Given the description of an element on the screen output the (x, y) to click on. 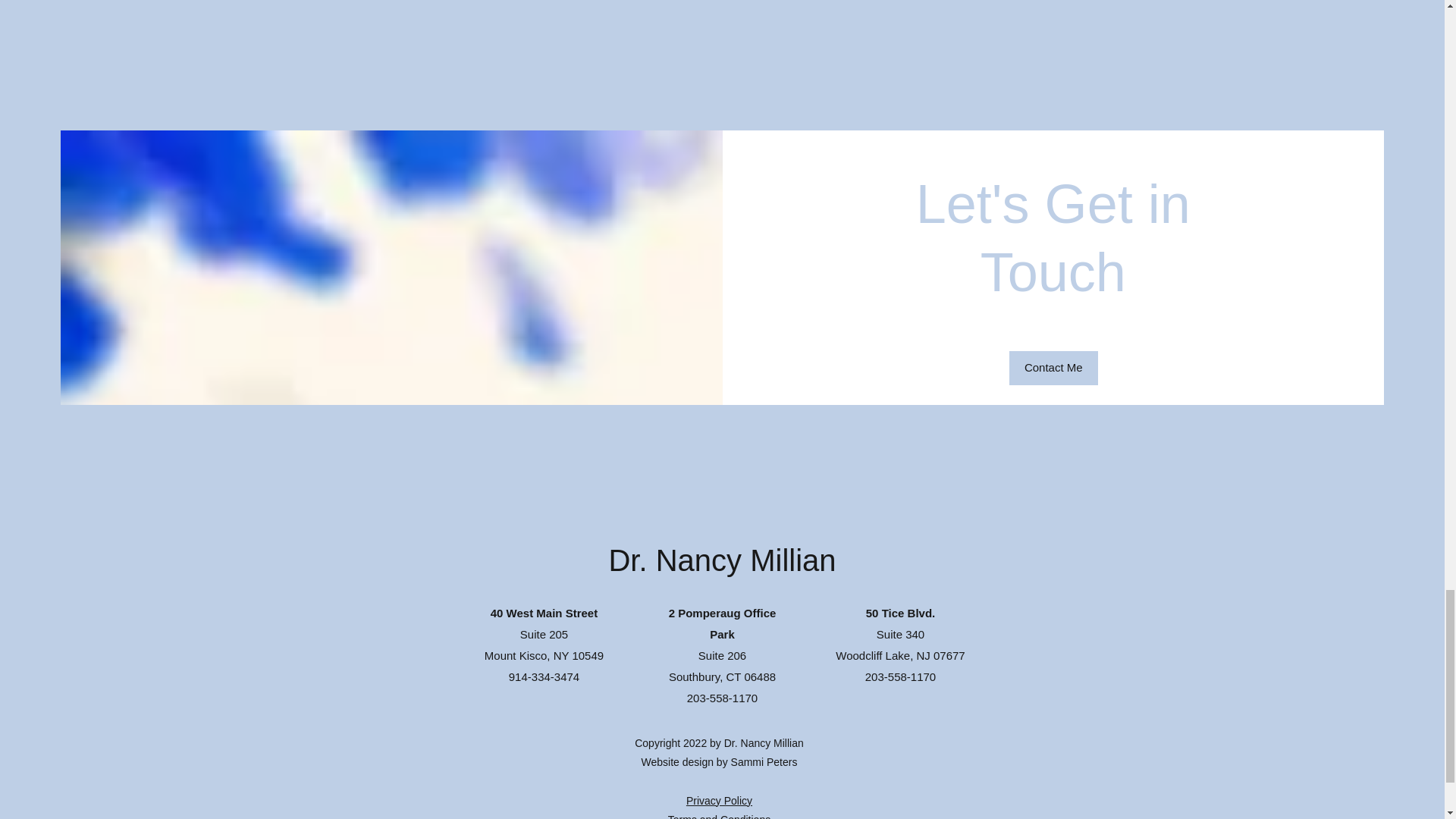
Privacy Policy (718, 800)
Contact Me (1053, 367)
Terms and Conditions (719, 816)
Dr. Nancy Millian (721, 560)
